Given the description of an element on the screen output the (x, y) to click on. 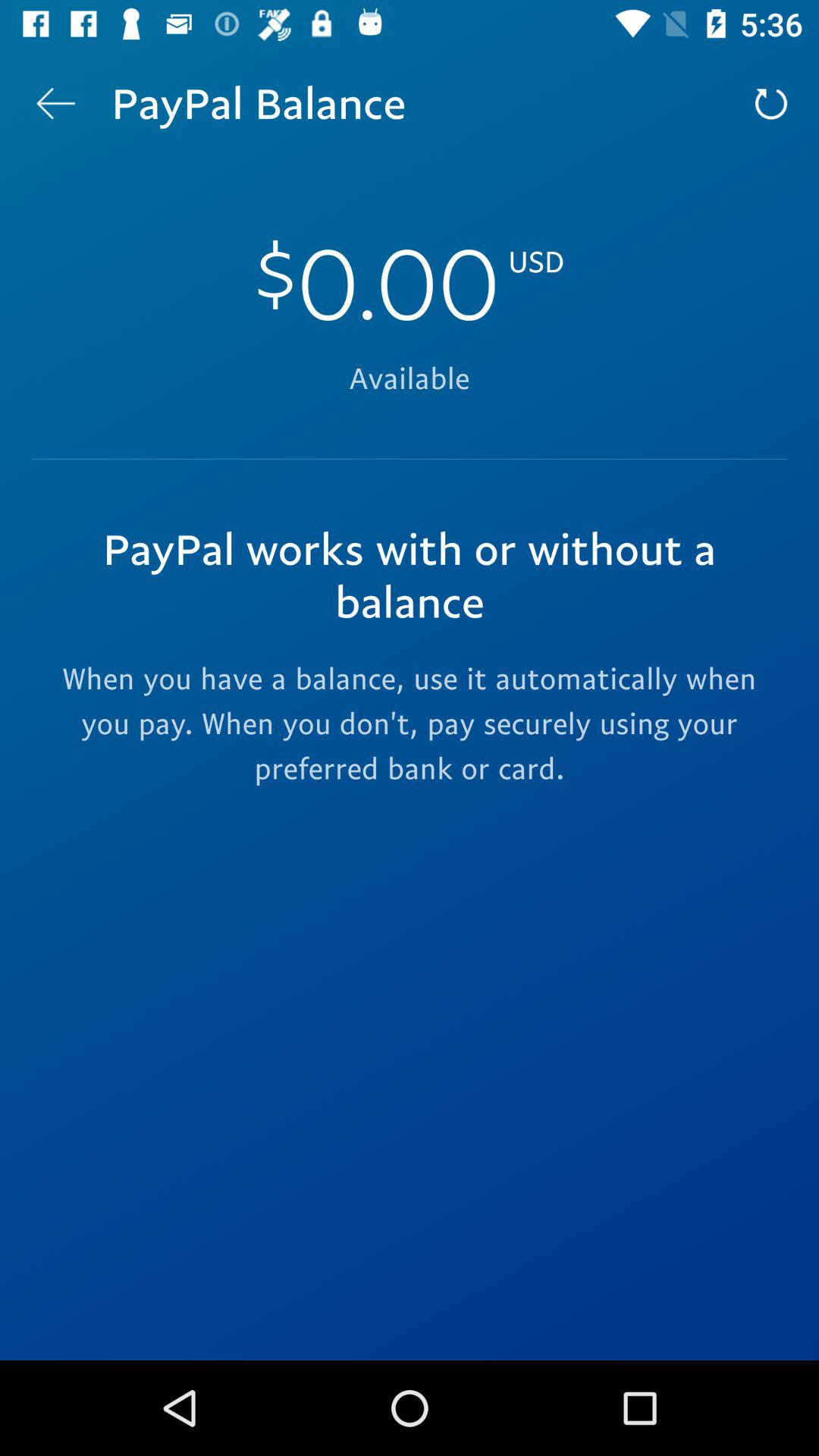
tap icon to the left of paypal balance item (55, 103)
